Given the description of an element on the screen output the (x, y) to click on. 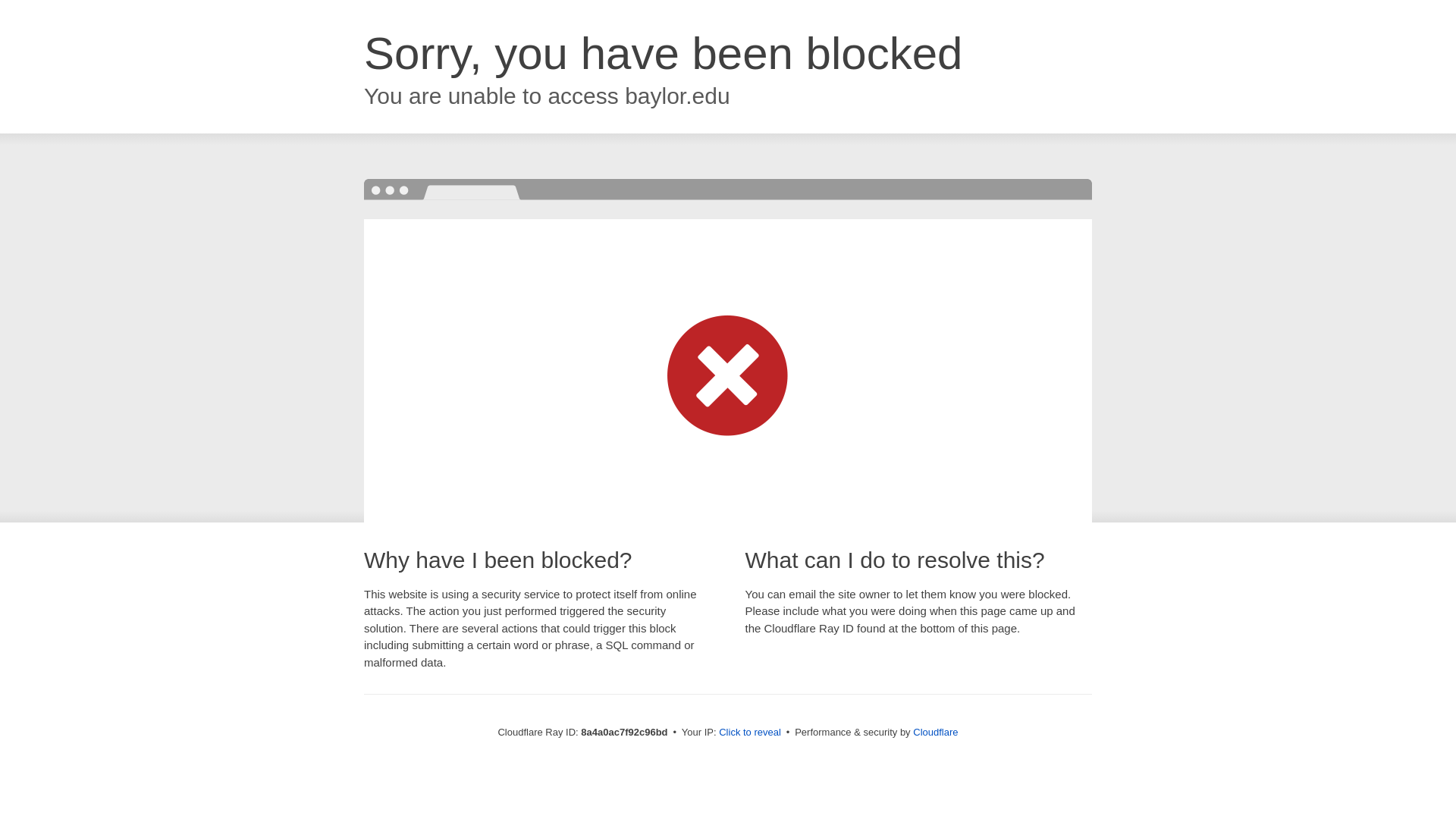
Click to reveal (749, 732)
Cloudflare (935, 731)
